Given the description of an element on the screen output the (x, y) to click on. 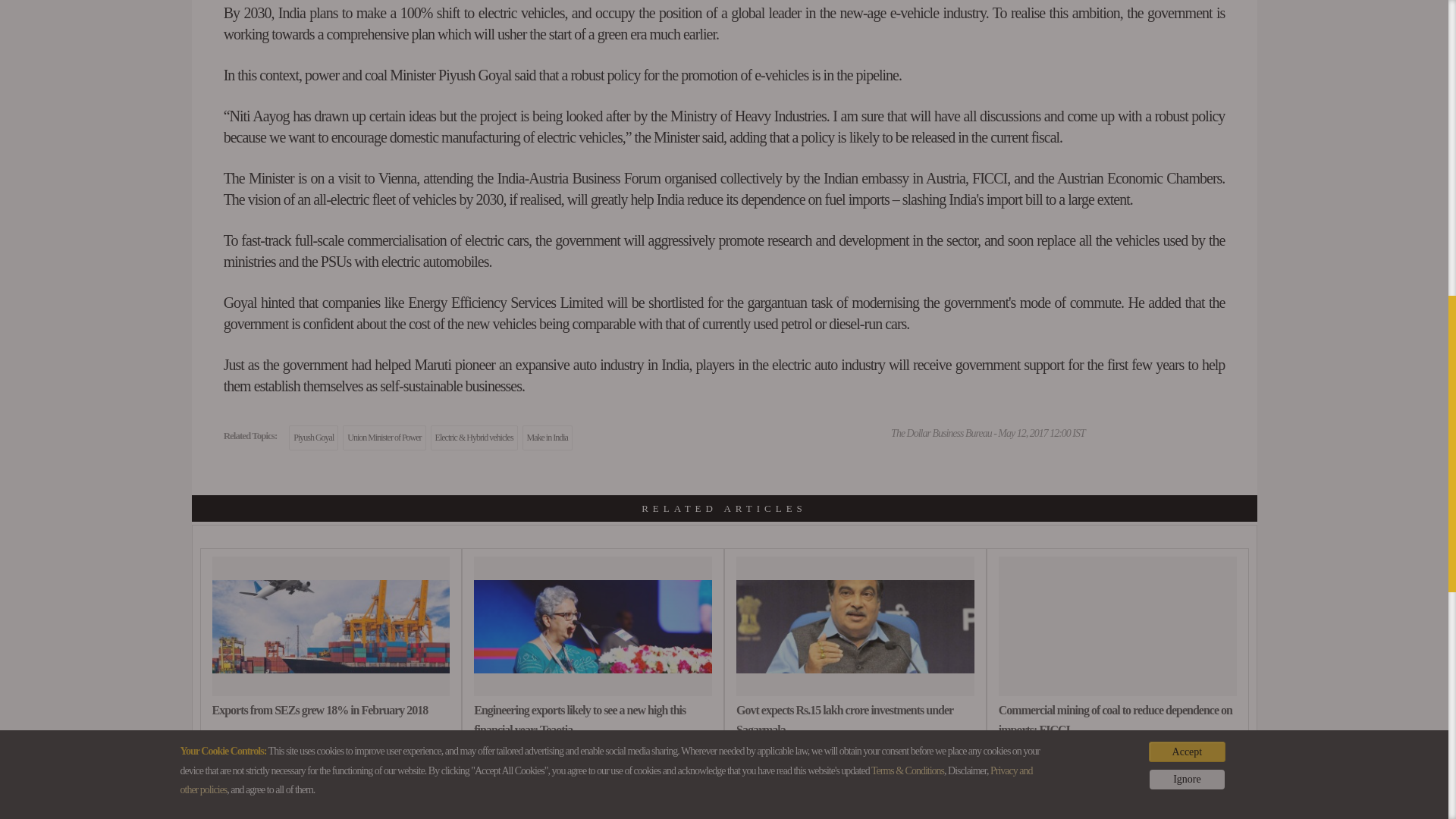
Read more (330, 817)
Make in India (547, 438)
Union Minister of Power (383, 438)
Piyush Goyal (312, 438)
